Given the description of an element on the screen output the (x, y) to click on. 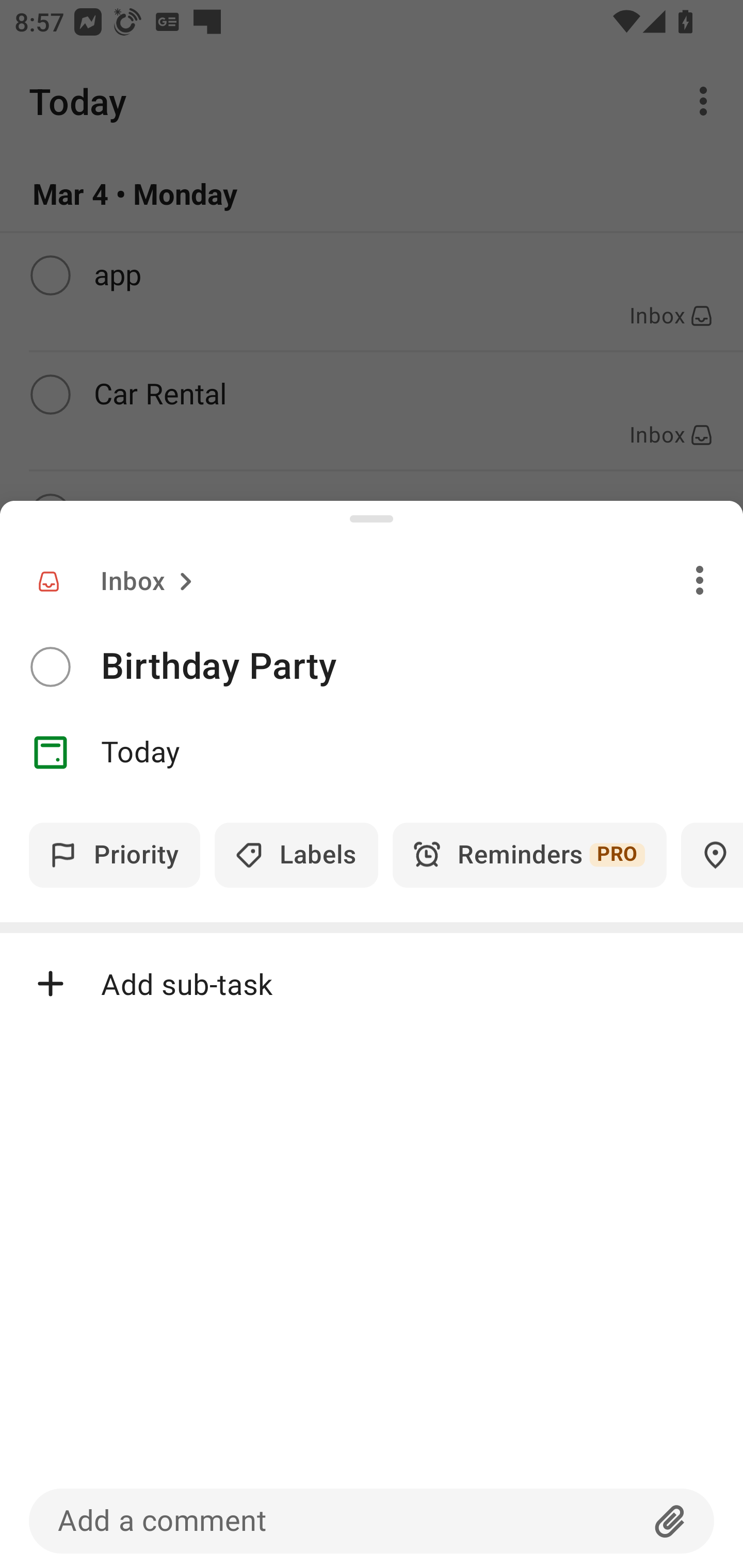
Overflow menu (699, 580)
Complete (50, 667)
Birthday Party​ (422, 666)
Date Today (371, 752)
Priority (113, 855)
Labels (296, 855)
Reminders PRO (529, 855)
Locations PRO (712, 855)
Add sub-task (371, 983)
Add a comment Attachment (371, 1520)
Attachment (670, 1520)
